Given the description of an element on the screen output the (x, y) to click on. 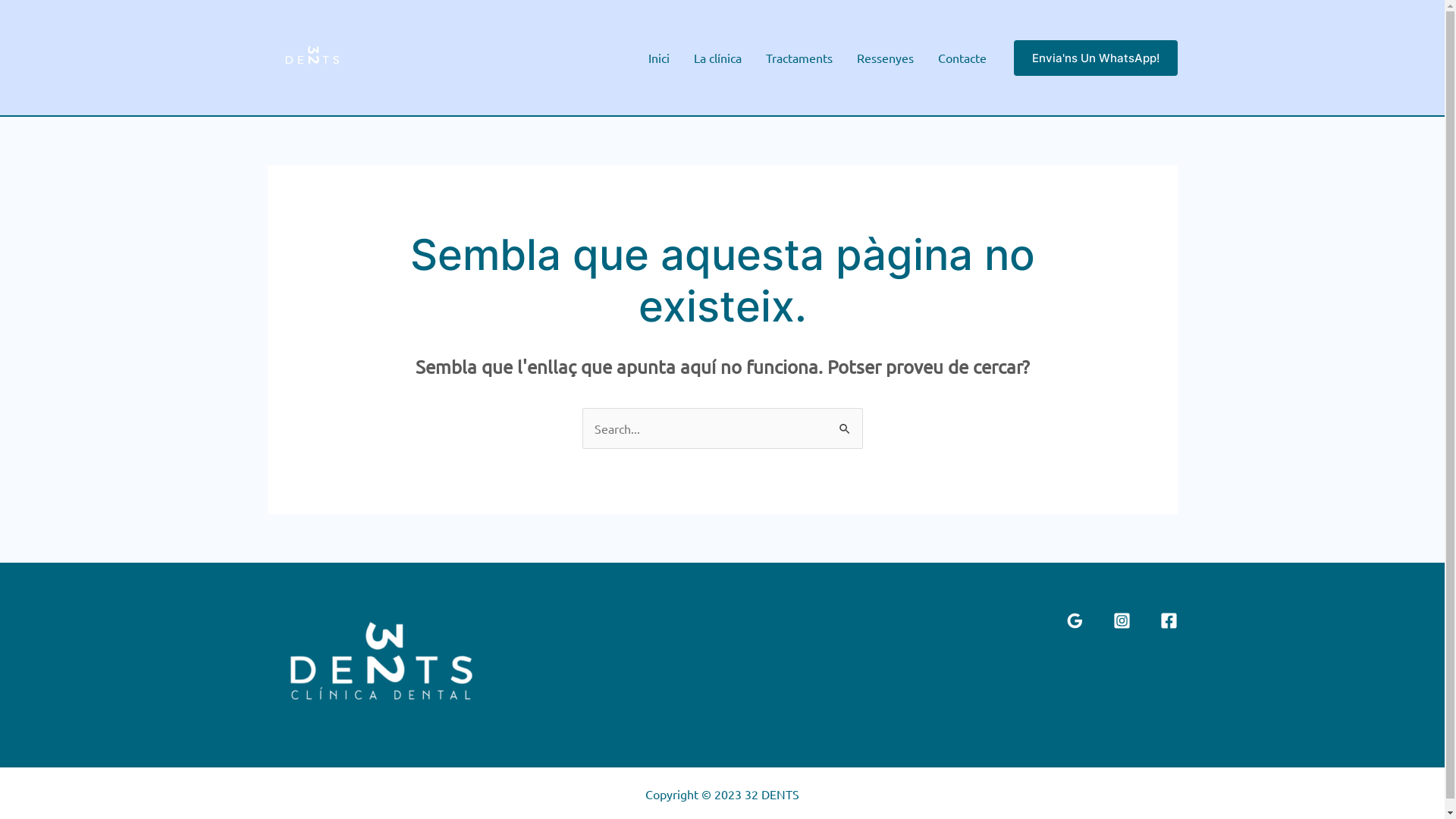
Ressenyes Element type: text (884, 57)
Envia'Ns Un WhatsApp! Element type: text (1094, 57)
Cerca Element type: text (845, 423)
Inici Element type: text (657, 57)
Tractaments Element type: text (798, 57)
Contacte Element type: text (961, 57)
